Given the description of an element on the screen output the (x, y) to click on. 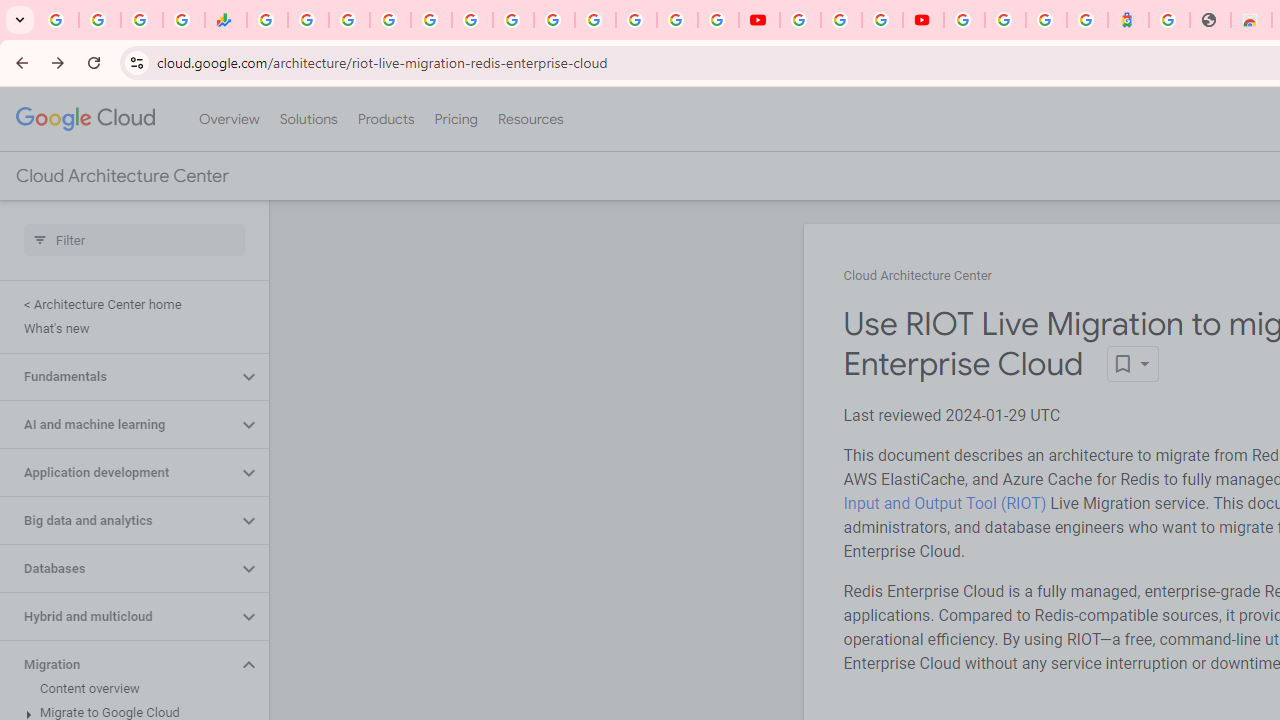
Migration (118, 664)
Create your Google Account (881, 20)
YouTube (758, 20)
Content Creator Programs & Opportunities - YouTube Creators (923, 20)
Google Account Help (840, 20)
< Architecture Center home (130, 304)
Atour Hotel - Google hotels (1128, 20)
Privacy Checkup (717, 20)
Hybrid and multicloud (118, 616)
YouTube (799, 20)
Big data and analytics (118, 520)
